Given the description of an element on the screen output the (x, y) to click on. 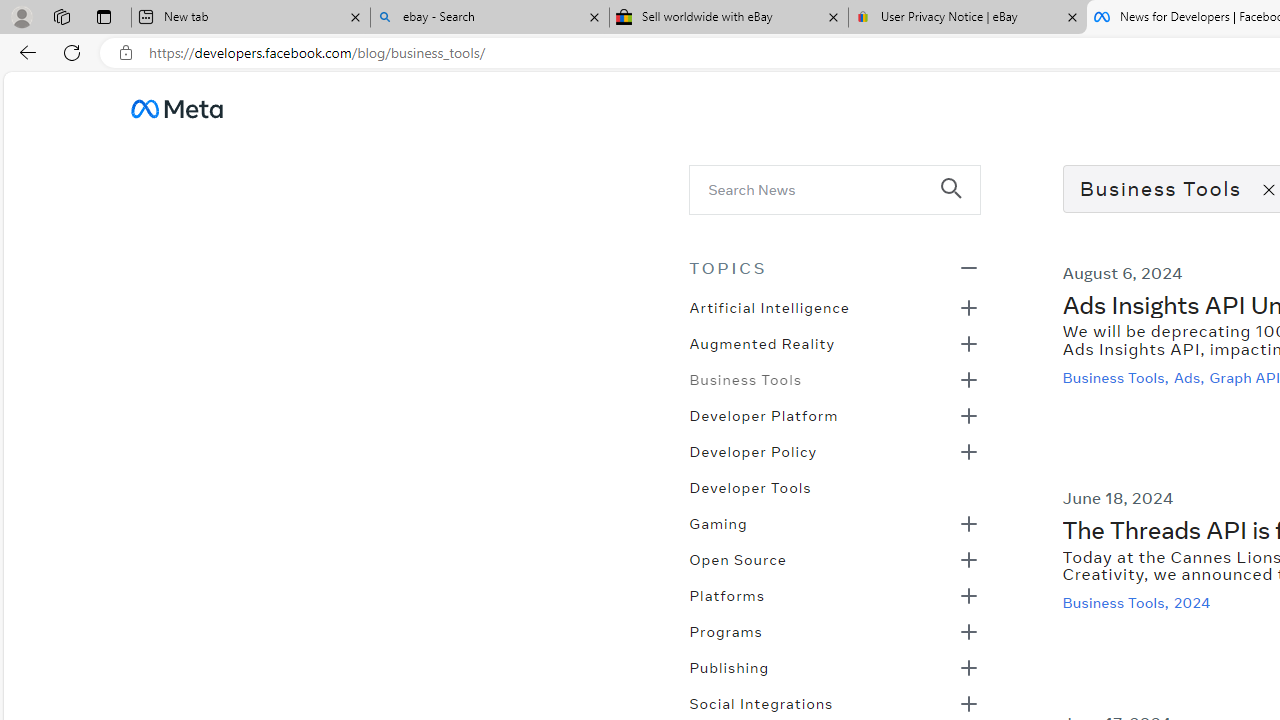
Class: _98ex _98ez (834, 673)
Gaming (717, 521)
